Given the description of an element on the screen output the (x, y) to click on. 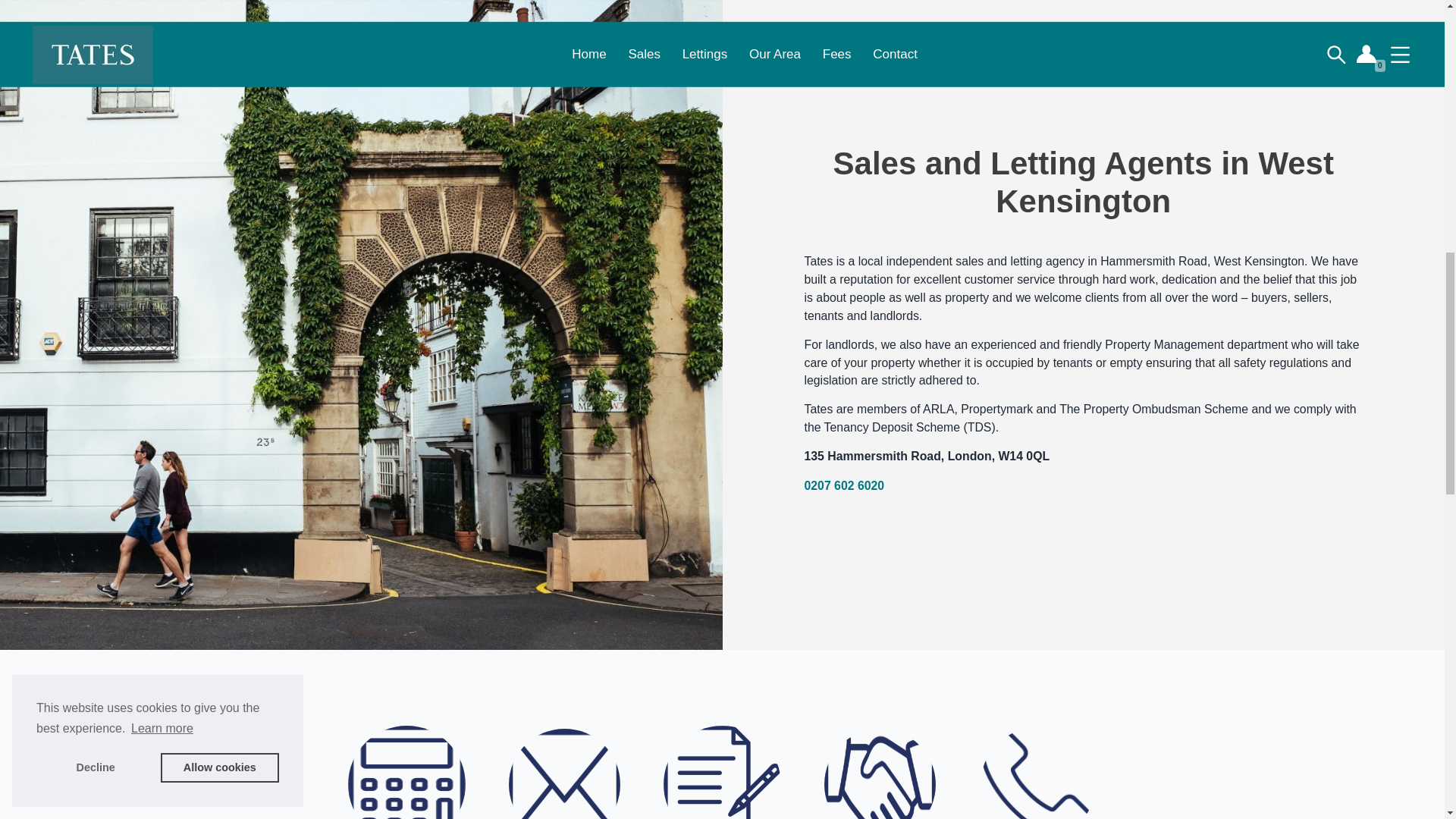
0207 602 6020 (563, 772)
